Given the description of an element on the screen output the (x, y) to click on. 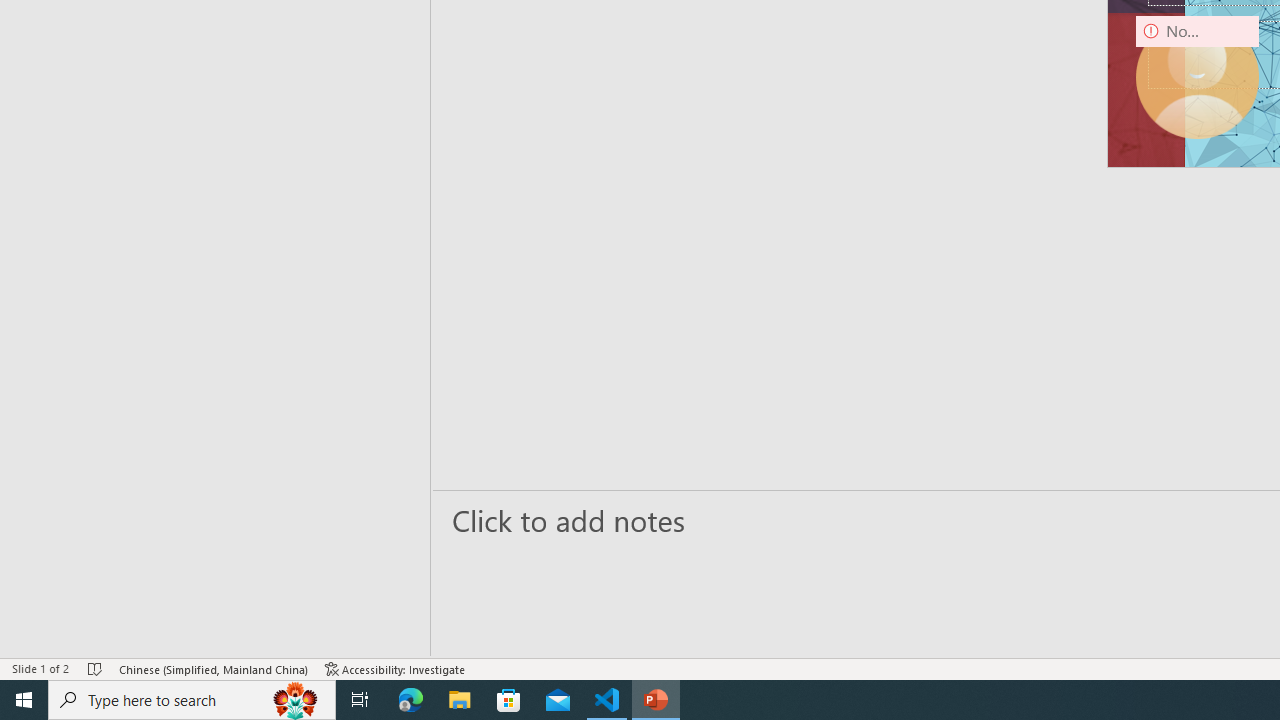
Camera 9, No camera detected. (1197, 77)
